Given the description of an element on the screen output the (x, y) to click on. 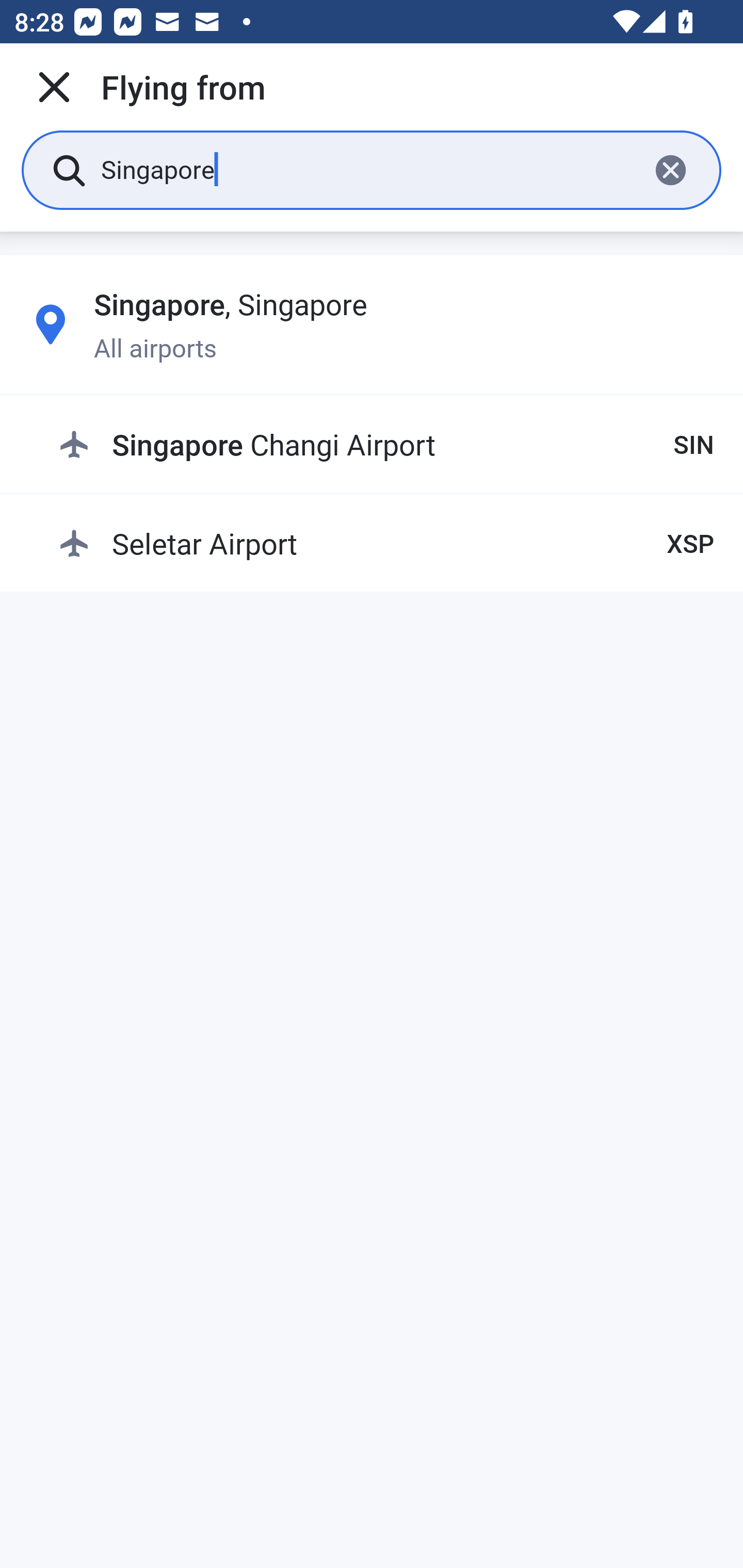
Singapore (367, 169)
Singapore, Singapore All airports (371, 324)
Singapore Changi Airport SIN (385, 444)
Seletar Airport XSP (385, 543)
